Given the description of an element on the screen output the (x, y) to click on. 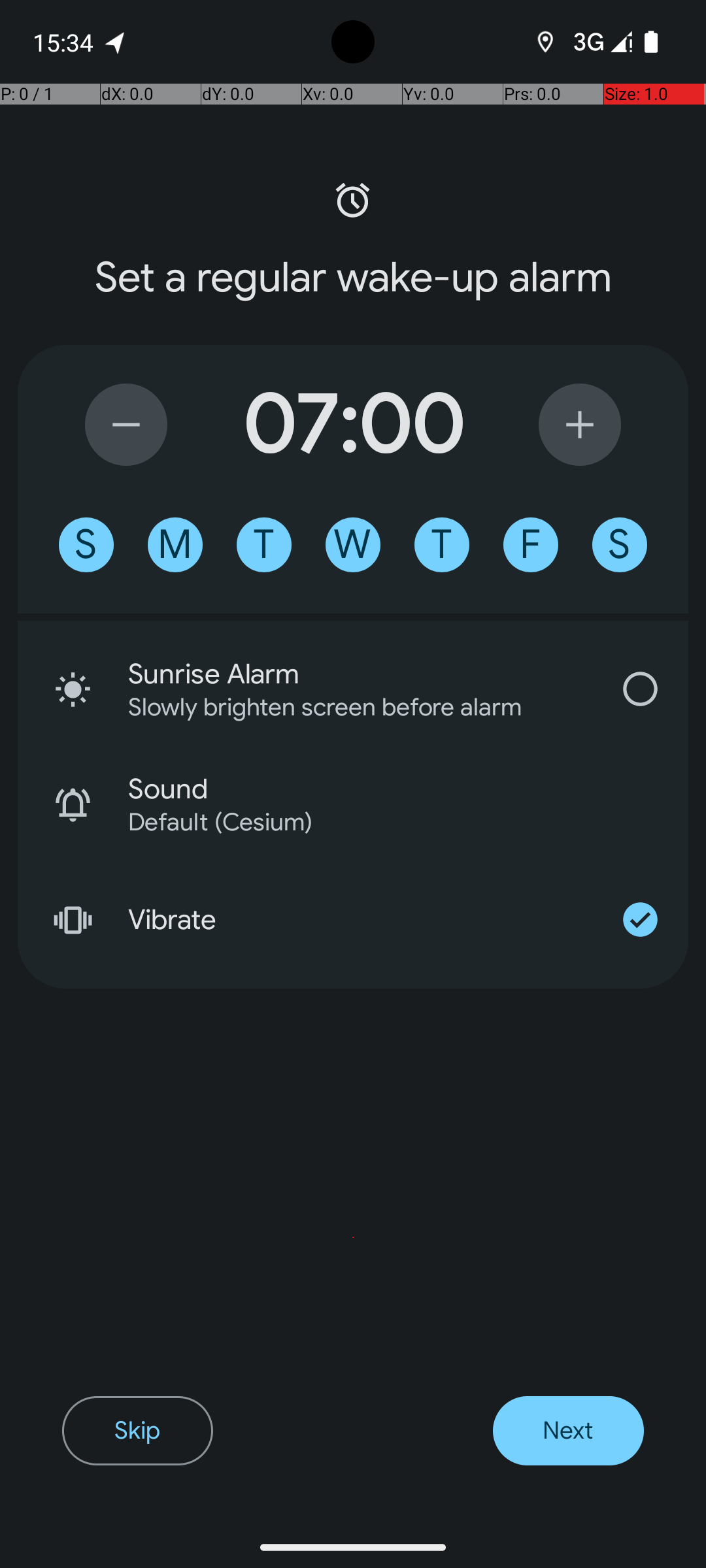
Set a regular wake-up alarm Element type: android.widget.TextView (352, 277)
Fifteen minutes earlier Element type: android.widget.ImageView (125, 424)
07:00 Element type: android.widget.TextView (353, 424)
Fifteen minutes later Element type: android.widget.ImageView (579, 424)
S Element type: android.widget.CheckBox (86, 544)
M Element type: android.widget.CheckBox (175, 544)
T Element type: android.widget.CheckBox (263, 544)
W Element type: android.widget.CheckBox (352, 544)
F Element type: android.widget.CheckBox (530, 544)
Skip Element type: android.widget.Button (137, 1430)
Next Element type: android.widget.Button (567, 1430)
Sunrise Alarm Element type: android.widget.TextView (360, 673)
Slowly brighten screen before alarm Element type: android.widget.TextView (342, 706)
Sound Element type: android.widget.TextView (408, 788)
Default (Cesium) Element type: android.widget.TextView (390, 821)
Vibrate Element type: android.widget.TextView (360, 919)
